Given the description of an element on the screen output the (x, y) to click on. 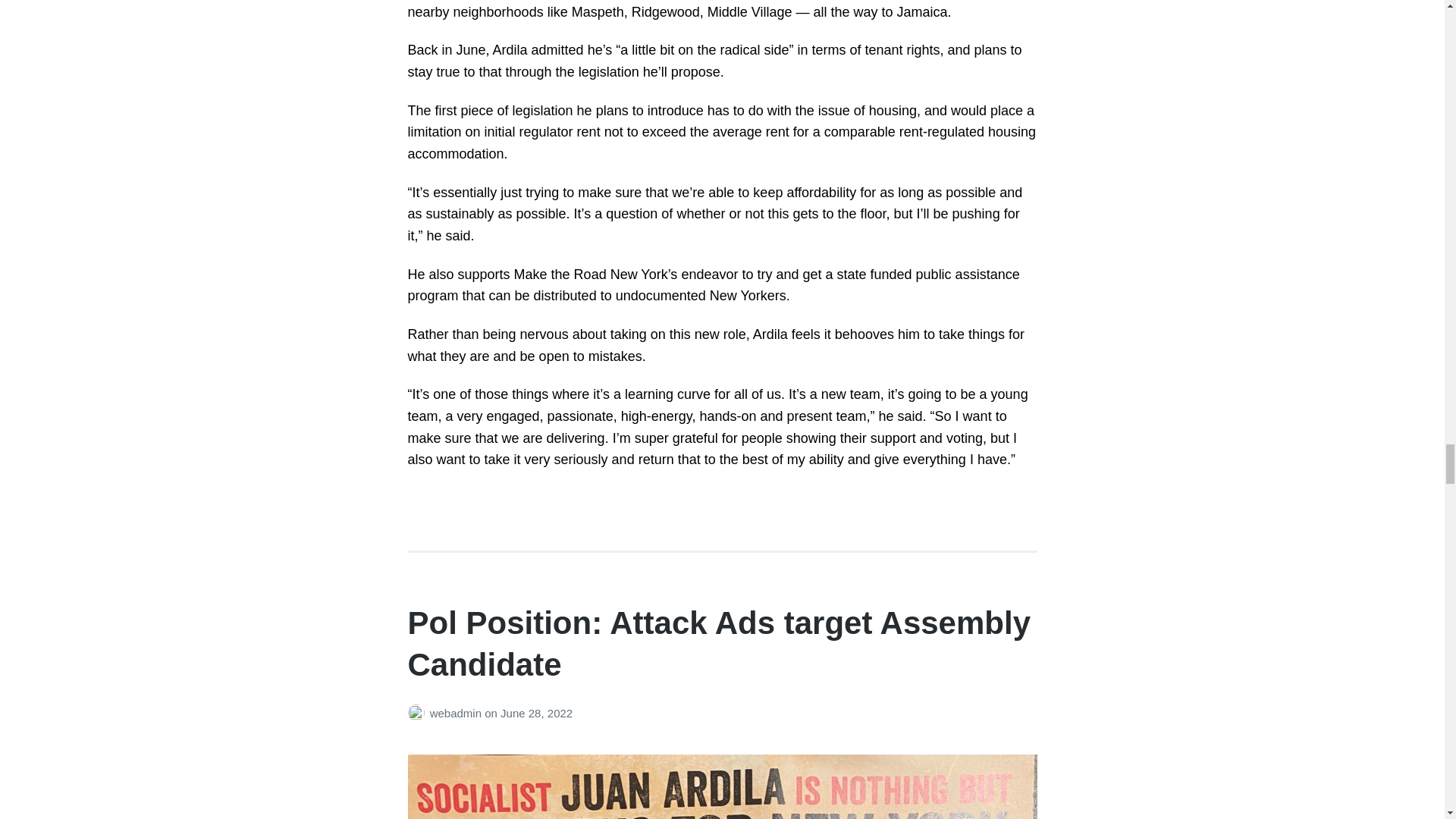
Posts by webadmin (418, 712)
